Given the description of an element on the screen output the (x, y) to click on. 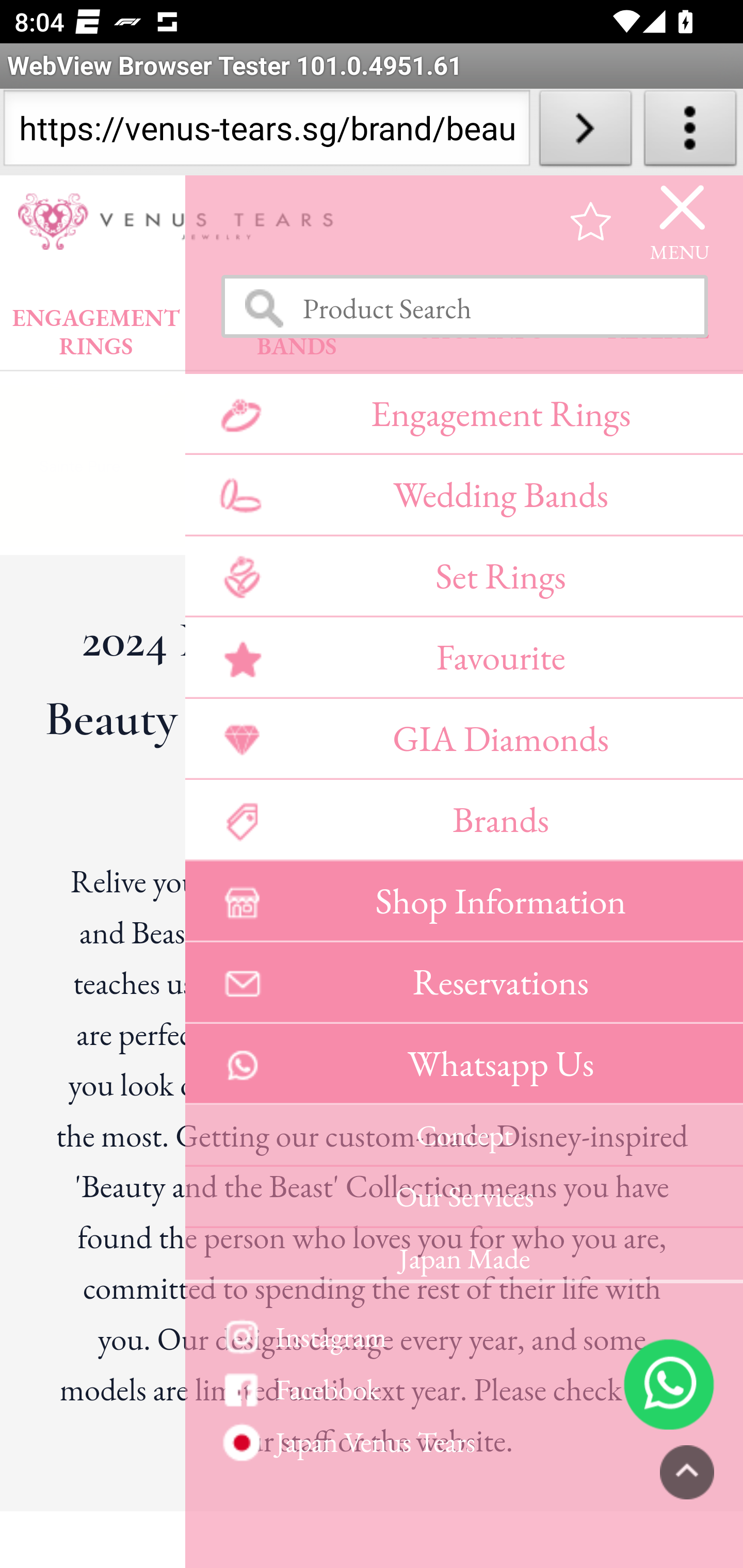
Load URL (585, 132)
About WebView (690, 132)
favourite (591, 223)
MENU (680, 223)
Engagement Rings (463, 414)
Wedding Bands (463, 496)
Set Rings (463, 577)
Favourite (463, 659)
GIA Diamonds (463, 740)
Brands (463, 822)
Shop Information (463, 901)
Reservations (463, 983)
Whatsapp Us (463, 1065)
Concept (463, 1137)
Our Services (463, 1198)
Japan Made (463, 1257)
Instagram (463, 1337)
6585184875 (668, 1385)
Facebook (463, 1390)
Custom Made Ring (463, 1446)
PAGETOP (686, 1473)
